Given the description of an element on the screen output the (x, y) to click on. 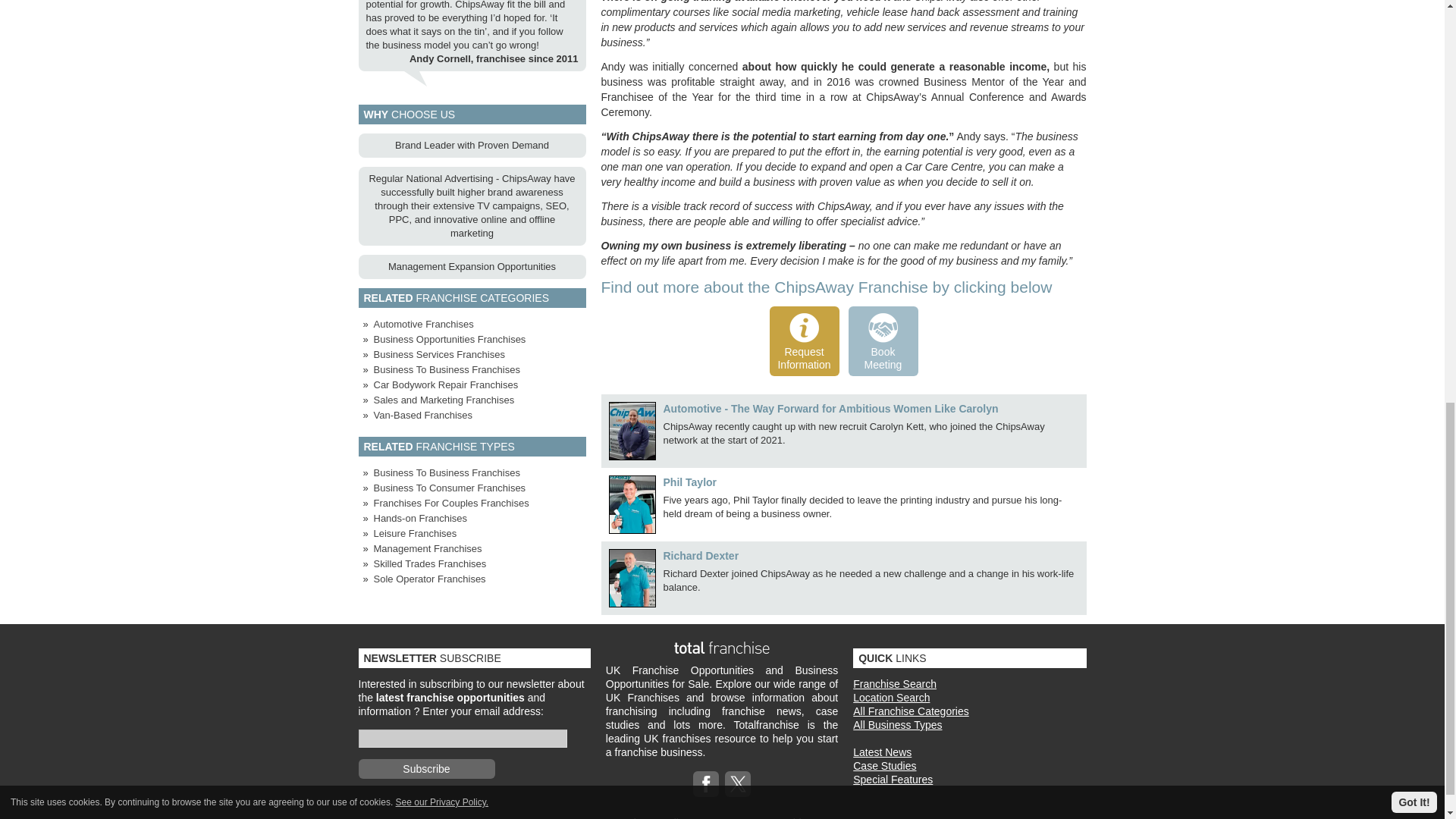
Franchisors (793, 817)
Subscribe (426, 768)
Contact Us (727, 817)
Privacy Policy (655, 817)
